Given the description of an element on the screen output the (x, y) to click on. 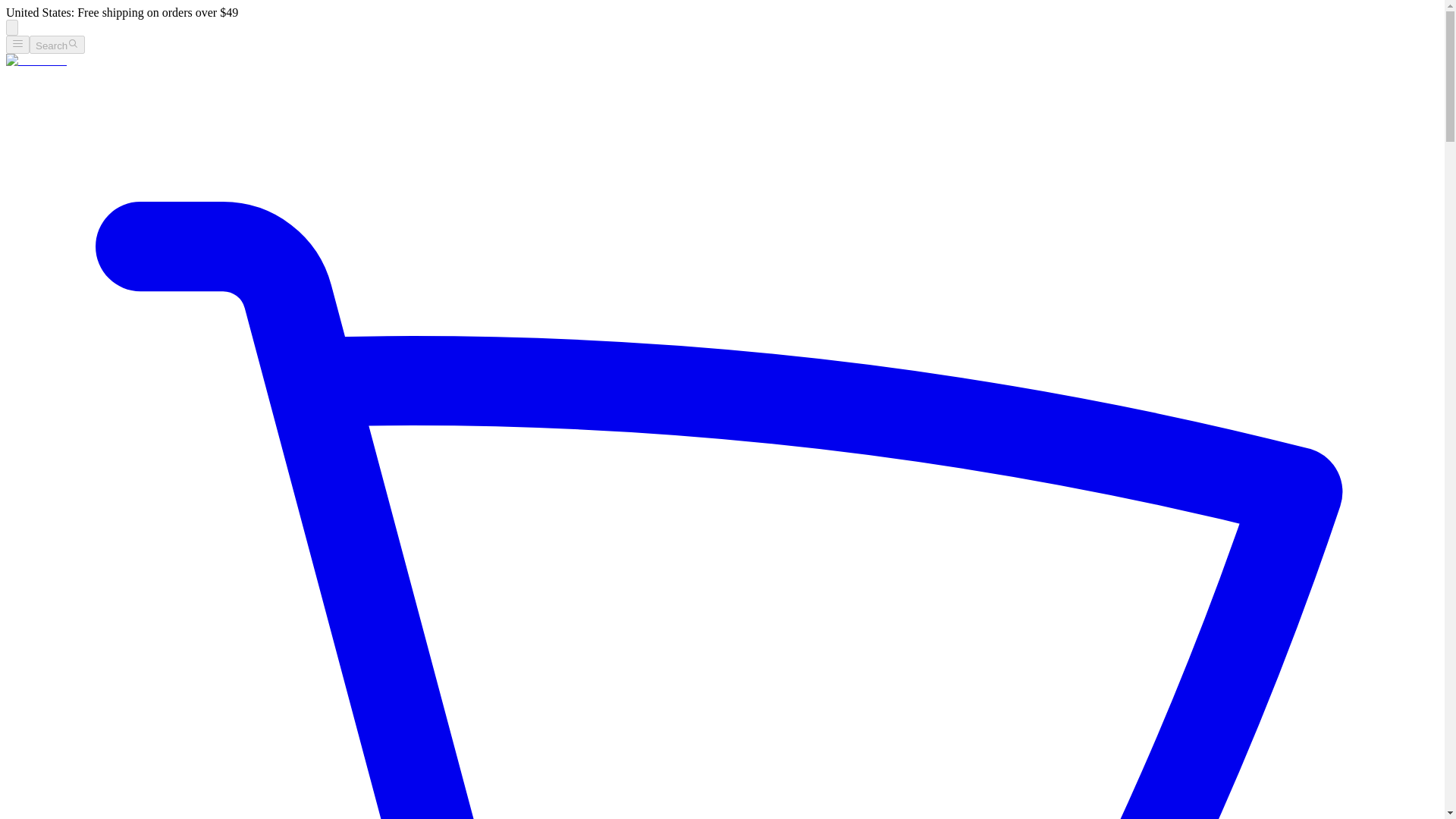
Search (56, 45)
